Given the description of an element on the screen output the (x, y) to click on. 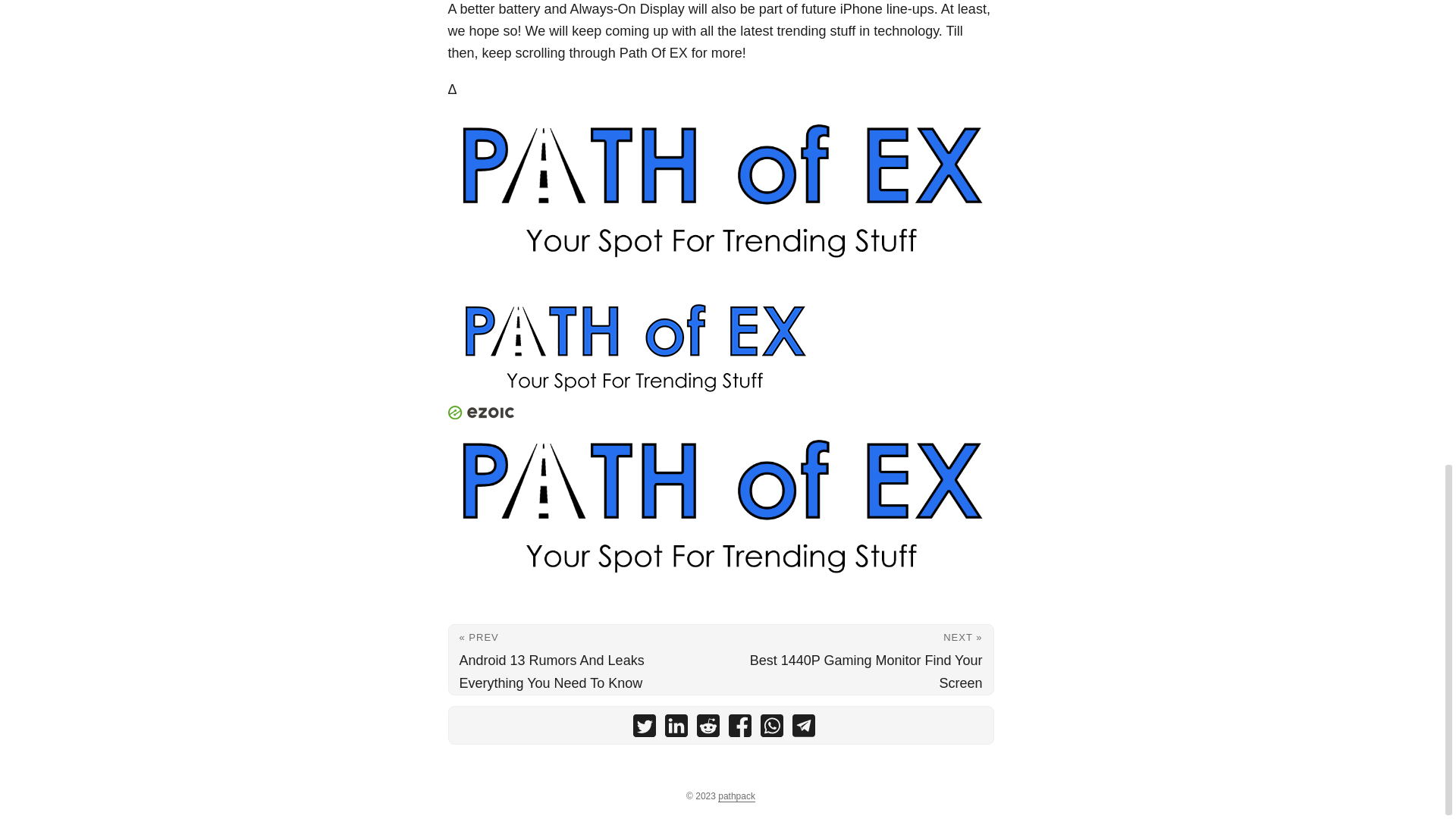
pathpack (736, 796)
